Given the description of an element on the screen output the (x, y) to click on. 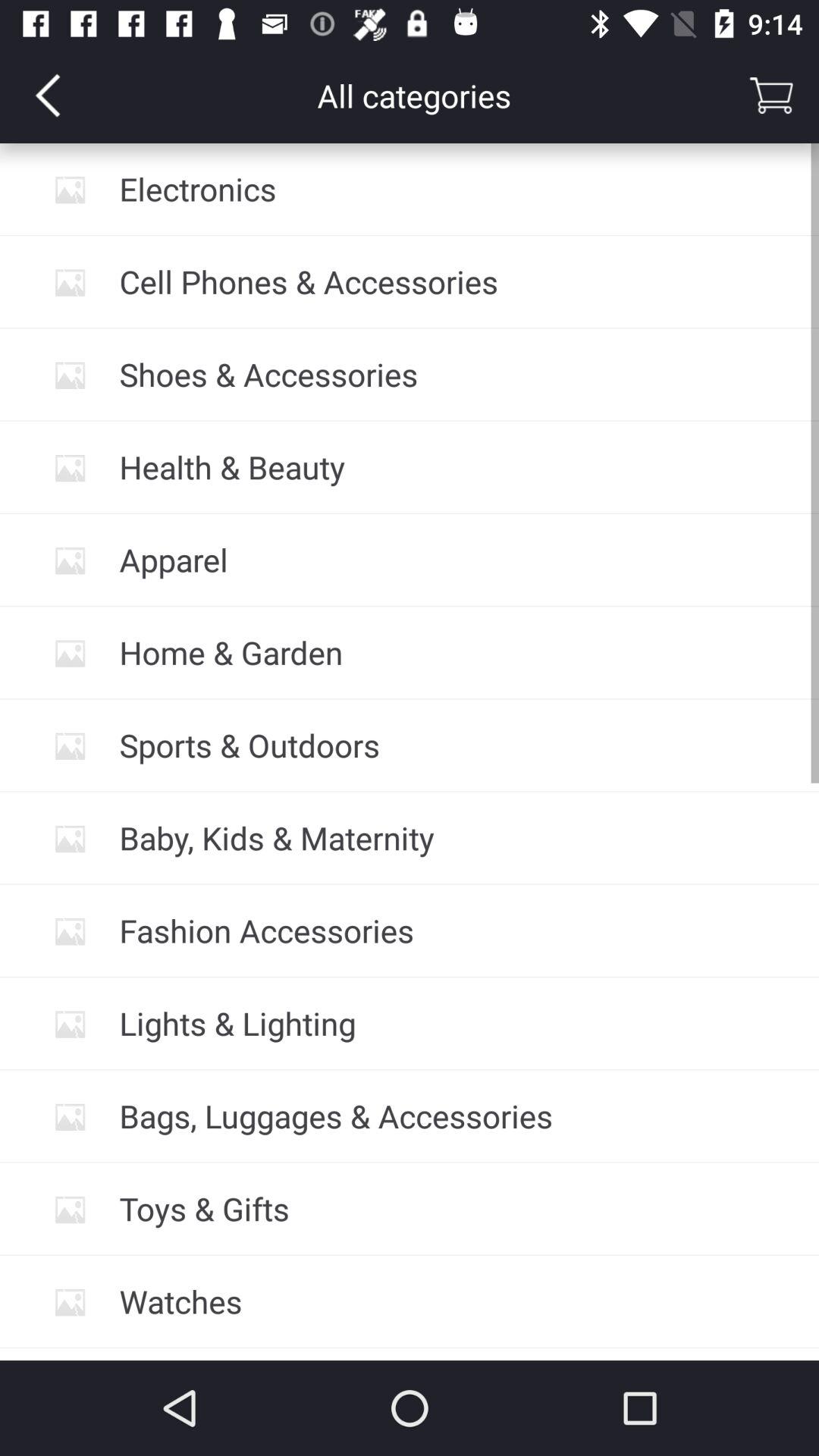
add to cart (771, 95)
